Given the description of an element on the screen output the (x, y) to click on. 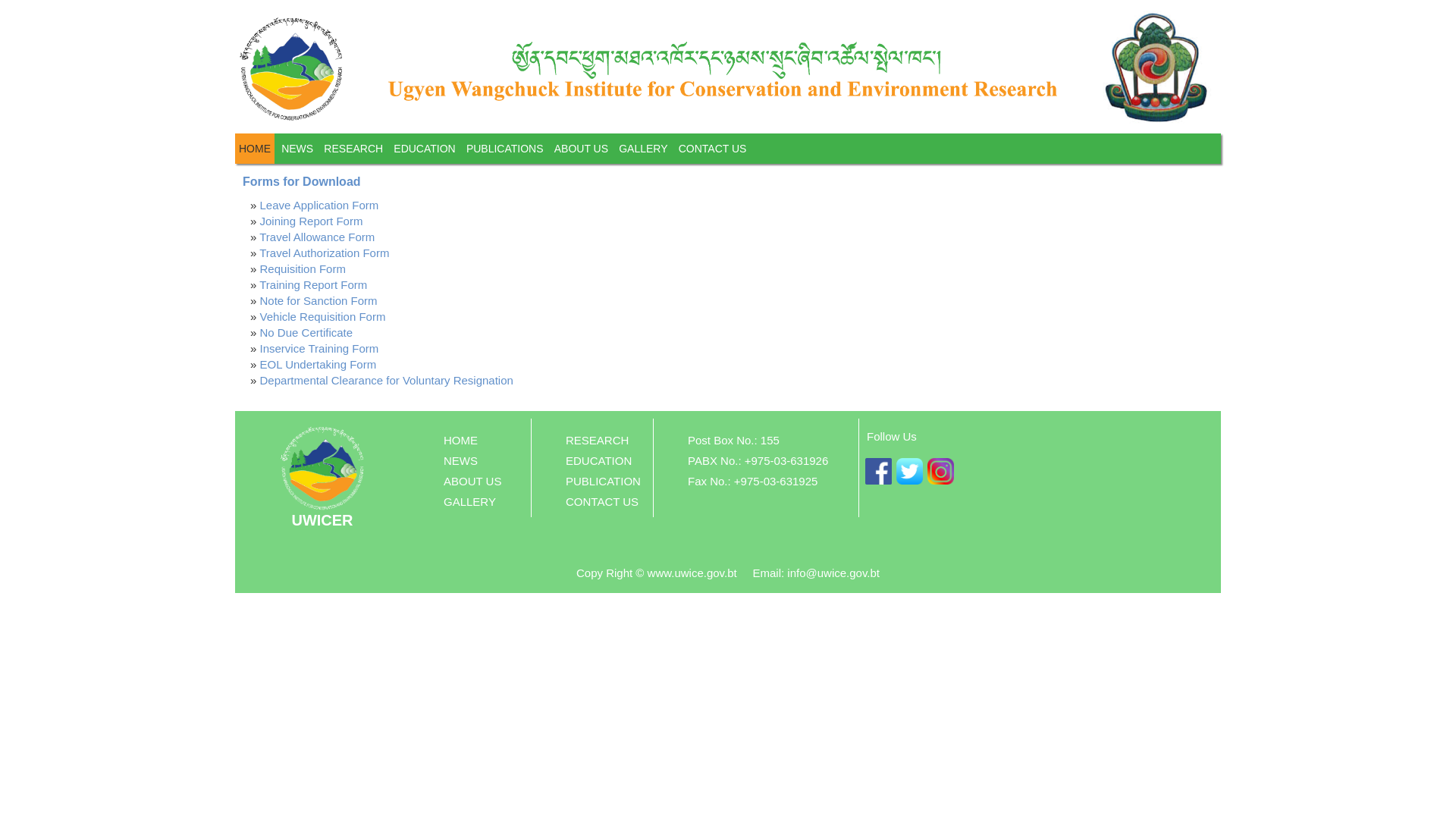
Travel Allowance Form Element type: text (316, 236)
PUBLICATION Element type: text (602, 480)
Training Report Form Element type: text (313, 284)
Requisition Form Element type: text (302, 268)
Travel Authorization Form Element type: text (324, 252)
Note for Sanction Form Element type: text (318, 300)
CONTACT US Element type: text (712, 148)
RESEARCH Element type: text (596, 439)
Joining Report Form Element type: text (311, 220)
ABOUT US Element type: text (580, 148)
EDUCATION Element type: text (598, 460)
EDUCATION Element type: text (423, 148)
NEWS Element type: text (296, 148)
NEWS Element type: text (460, 460)
ABOUT US Element type: text (472, 480)
PUBLICATIONS Element type: text (504, 148)
CONTACT US Element type: text (601, 501)
Departmental Clearance for Voluntary Resignation Element type: text (386, 379)
EOL Undertaking Form Element type: text (318, 363)
RESEARCH Element type: text (353, 148)
GALLERY Element type: text (643, 148)
Leave Application Form Element type: text (319, 204)
Forms for Download Element type: text (301, 181)
GALLERY Element type: text (469, 501)
No Due Certificate Element type: text (306, 332)
Inservice Training Form Element type: text (319, 348)
HOME Element type: text (460, 439)
Vehicle Requisition Form Element type: text (322, 316)
HOME Element type: text (254, 148)
